Given the description of an element on the screen output the (x, y) to click on. 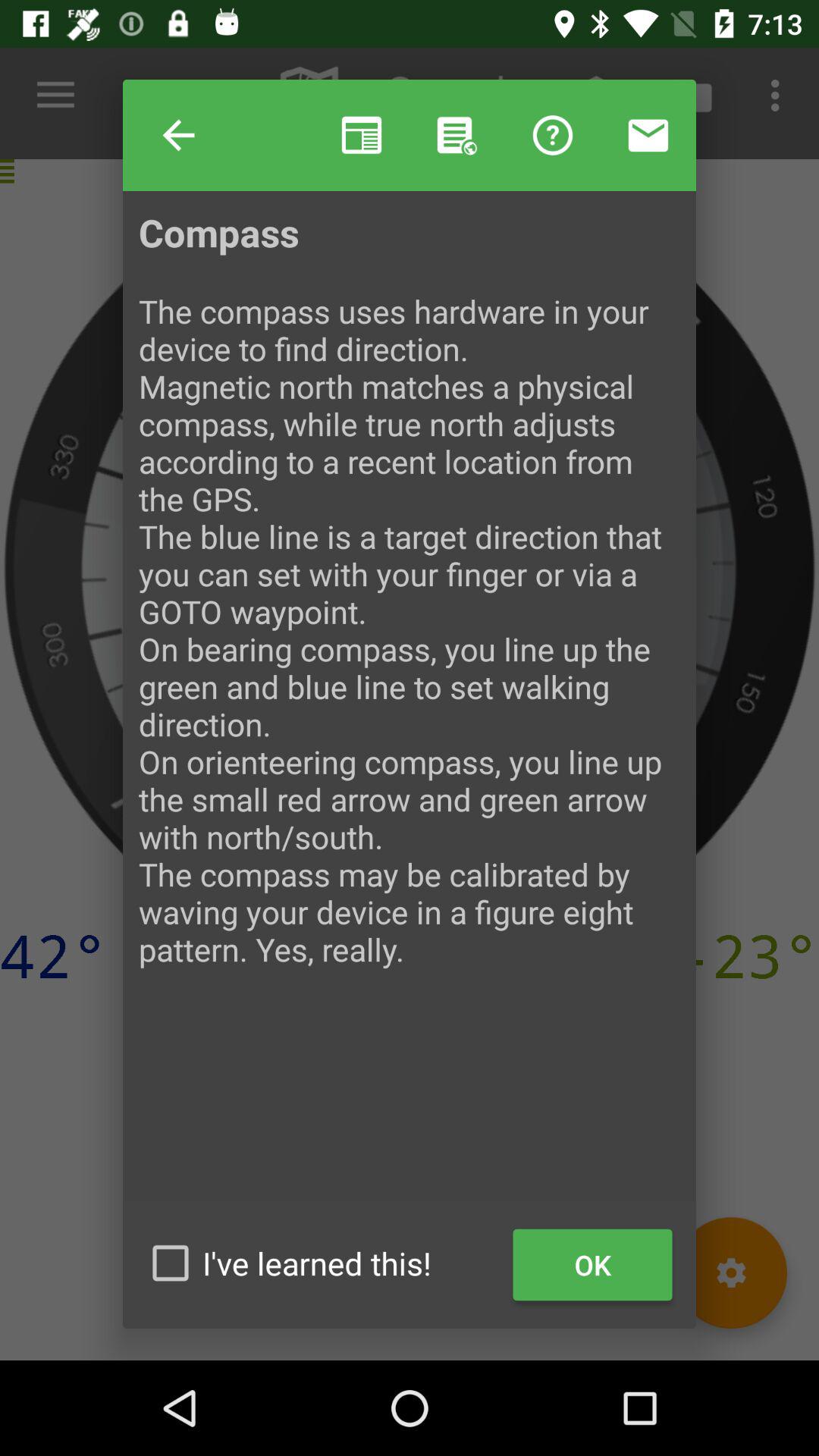
launch the item to the left of help (178, 135)
